Given the description of an element on the screen output the (x, y) to click on. 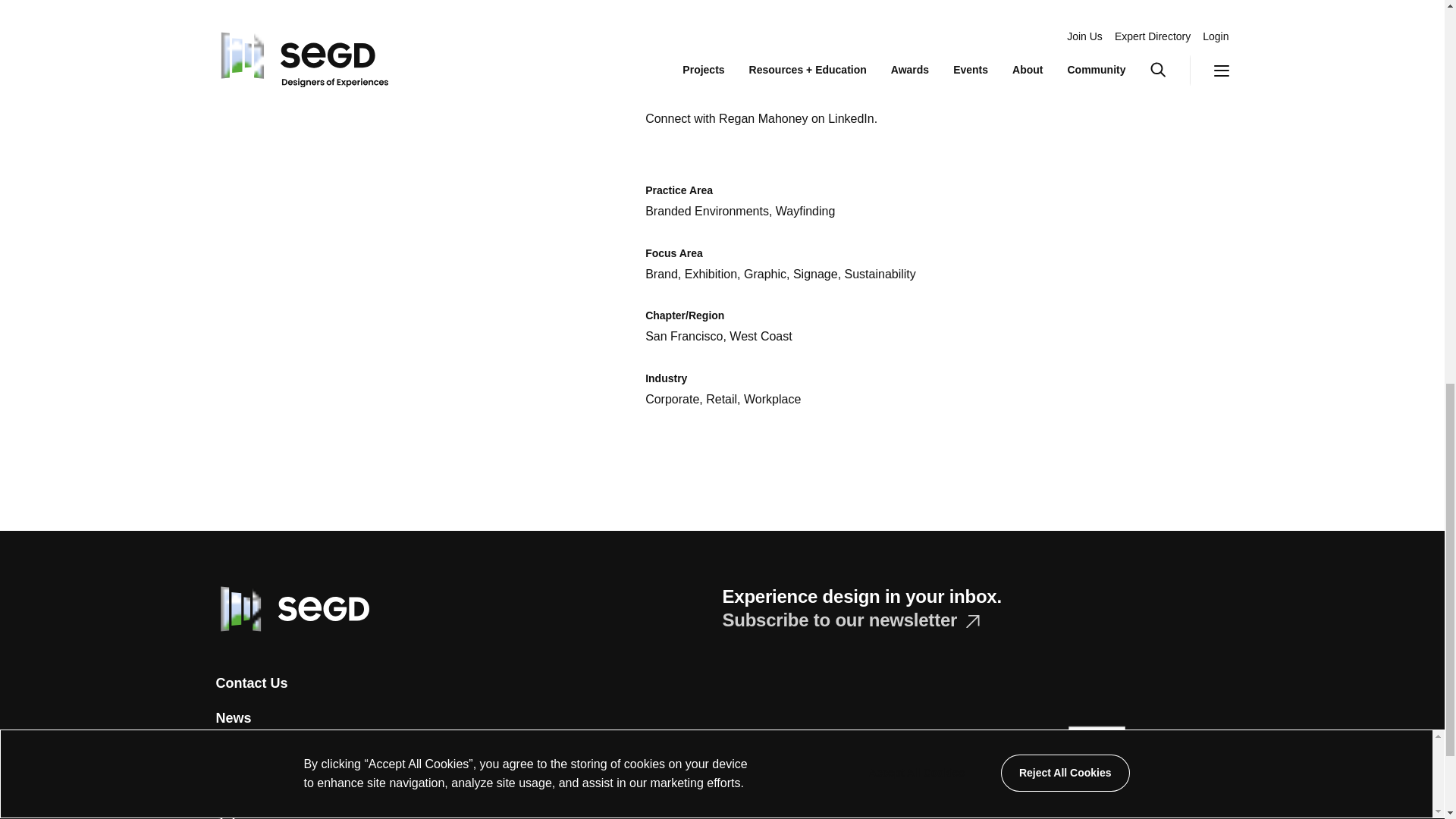
Return to Homepage (291, 607)
Contact Us (250, 683)
Jobs (231, 816)
Partnerships (256, 787)
Society for Experiential Graphic Design logo (291, 608)
News (232, 718)
Subscribe to our newsletter (850, 619)
About Us (245, 752)
